Given the description of an element on the screen output the (x, y) to click on. 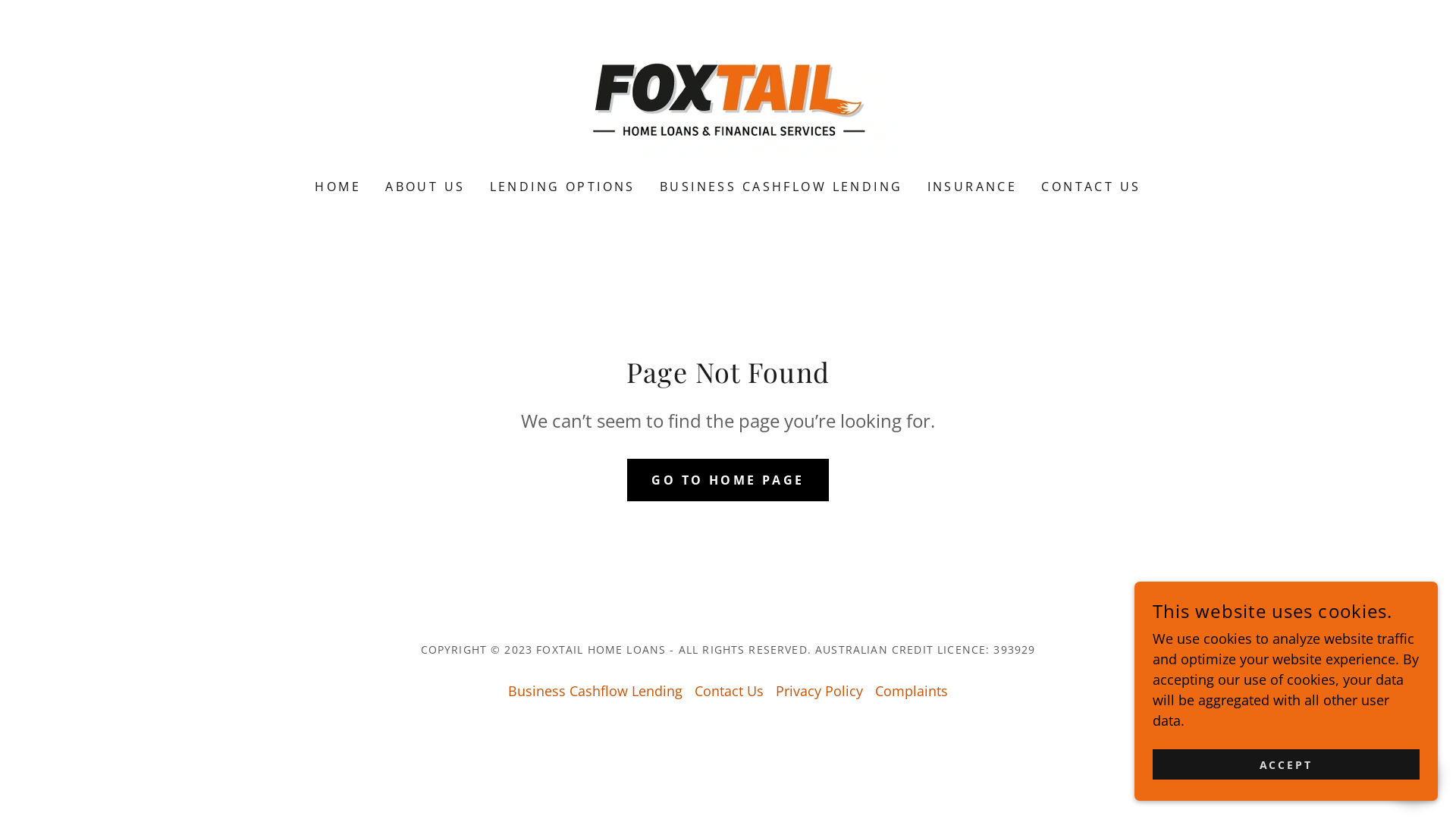
HOME Element type: text (337, 186)
ABOUT US Element type: text (424, 186)
Foxtail Home Loans Element type: hover (727, 99)
BUSINESS CASHFLOW LENDING Element type: text (781, 186)
GO TO HOME PAGE Element type: text (727, 479)
INSURANCE Element type: text (971, 186)
CONTACT US Element type: text (1090, 186)
Privacy Policy Element type: text (819, 690)
ACCEPT Element type: text (1285, 764)
Complaints Element type: text (911, 690)
LENDING OPTIONS Element type: text (562, 186)
Business Cashflow Lending Element type: text (595, 690)
Contact Us Element type: text (728, 690)
